Given the description of an element on the screen output the (x, y) to click on. 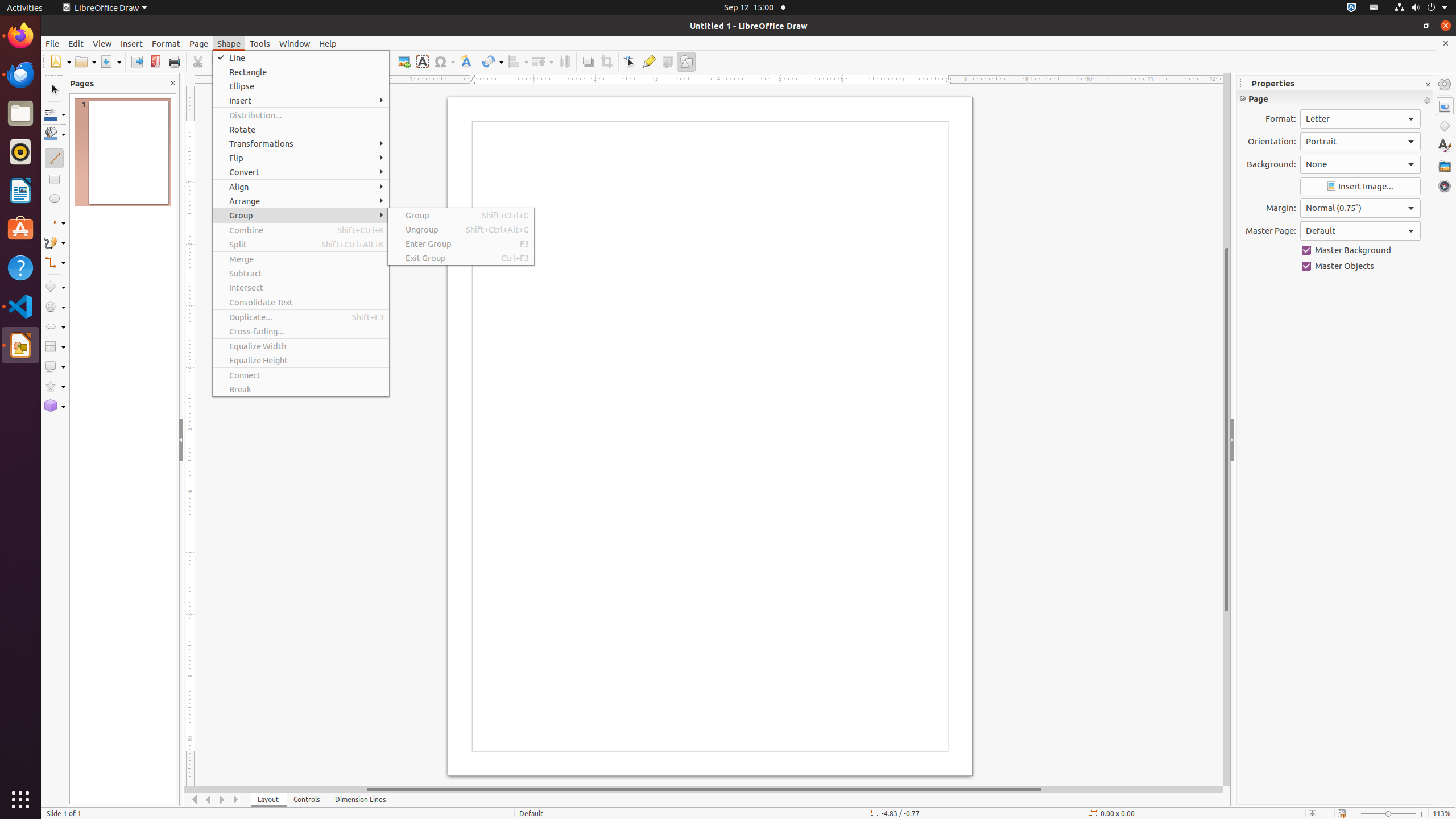
Break Element type: menu-item (300, 389)
Undo Element type: push-button (290, 61)
Move To Home Element type: push-button (194, 799)
